Given the description of an element on the screen output the (x, y) to click on. 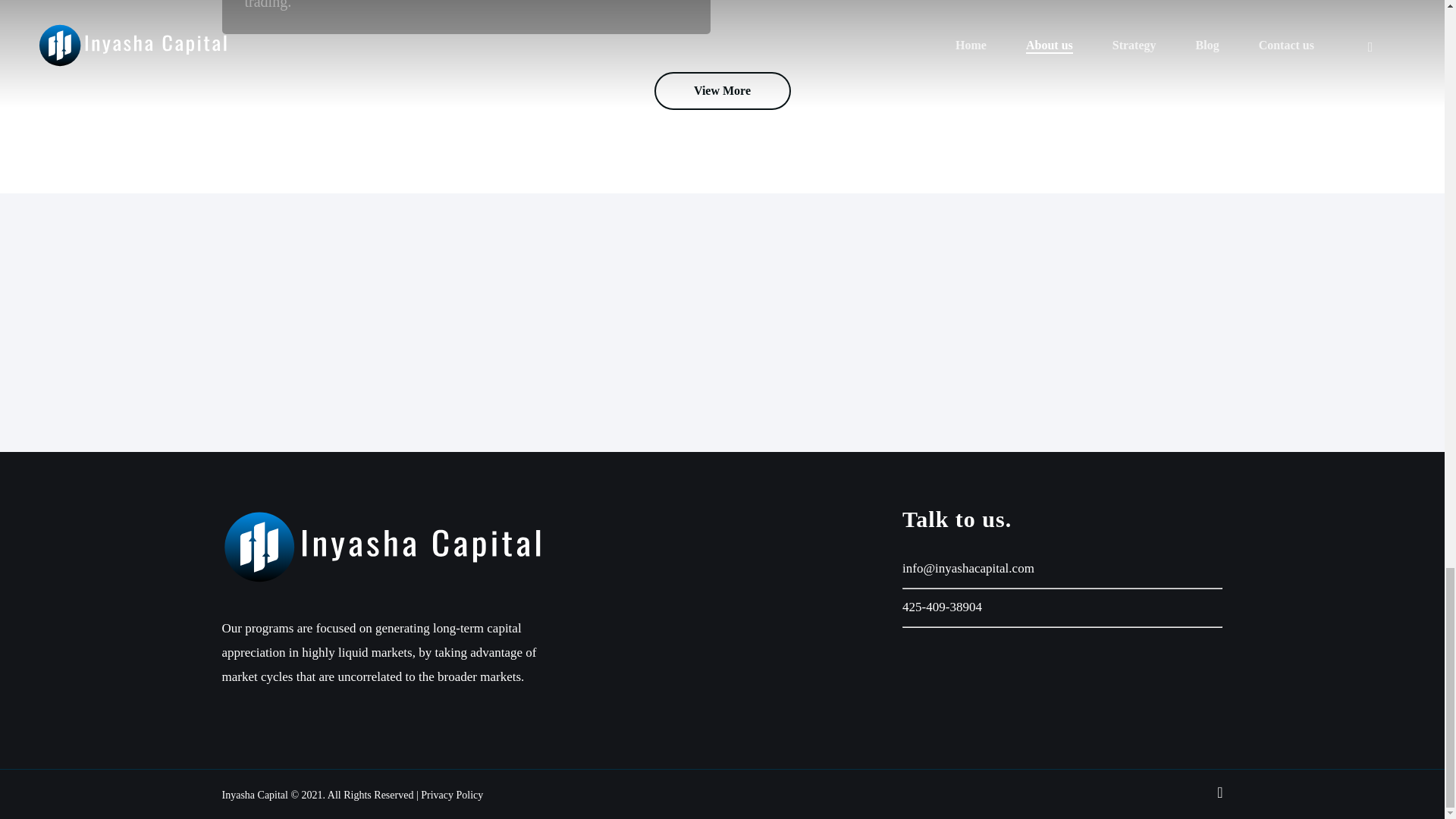
425-409-38904 (941, 606)
Privacy Policy (451, 794)
View More (721, 90)
